Given the description of an element on the screen output the (x, y) to click on. 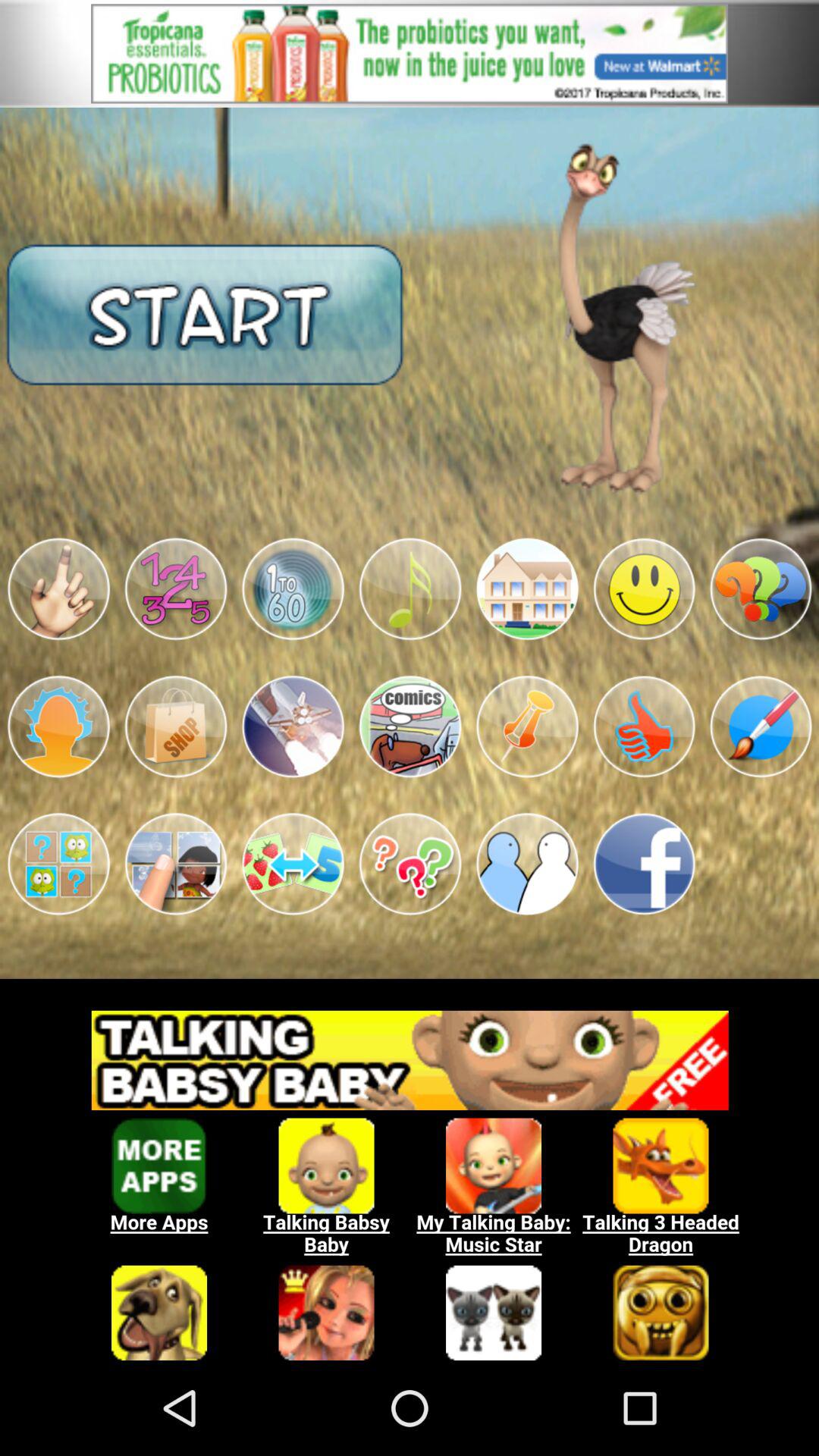
select paintbrush icon (760, 726)
